Given the description of an element on the screen output the (x, y) to click on. 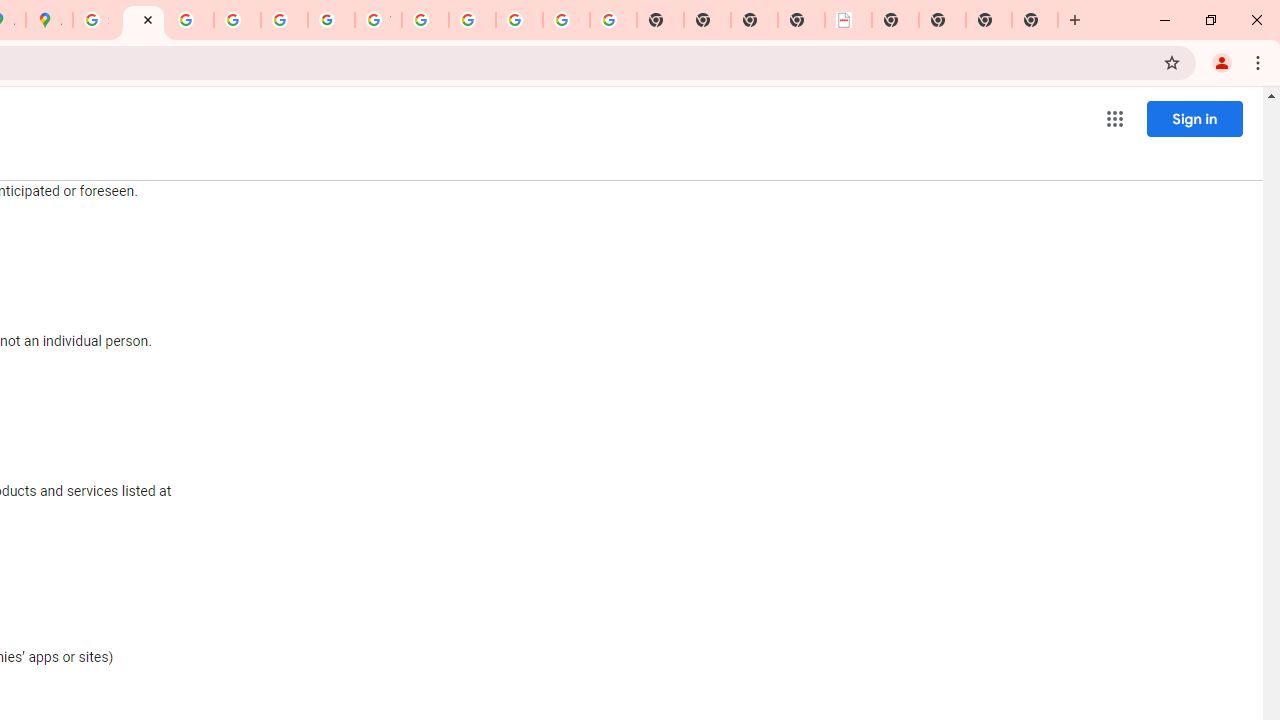
New Tab (1035, 20)
Sign in - Google Accounts (96, 20)
Privacy Help Center - Policies Help (237, 20)
LAAD Defence & Security 2025 | BAE Systems (848, 20)
Sign in (1194, 118)
New Tab (895, 20)
New Tab (989, 20)
